Given the description of an element on the screen output the (x, y) to click on. 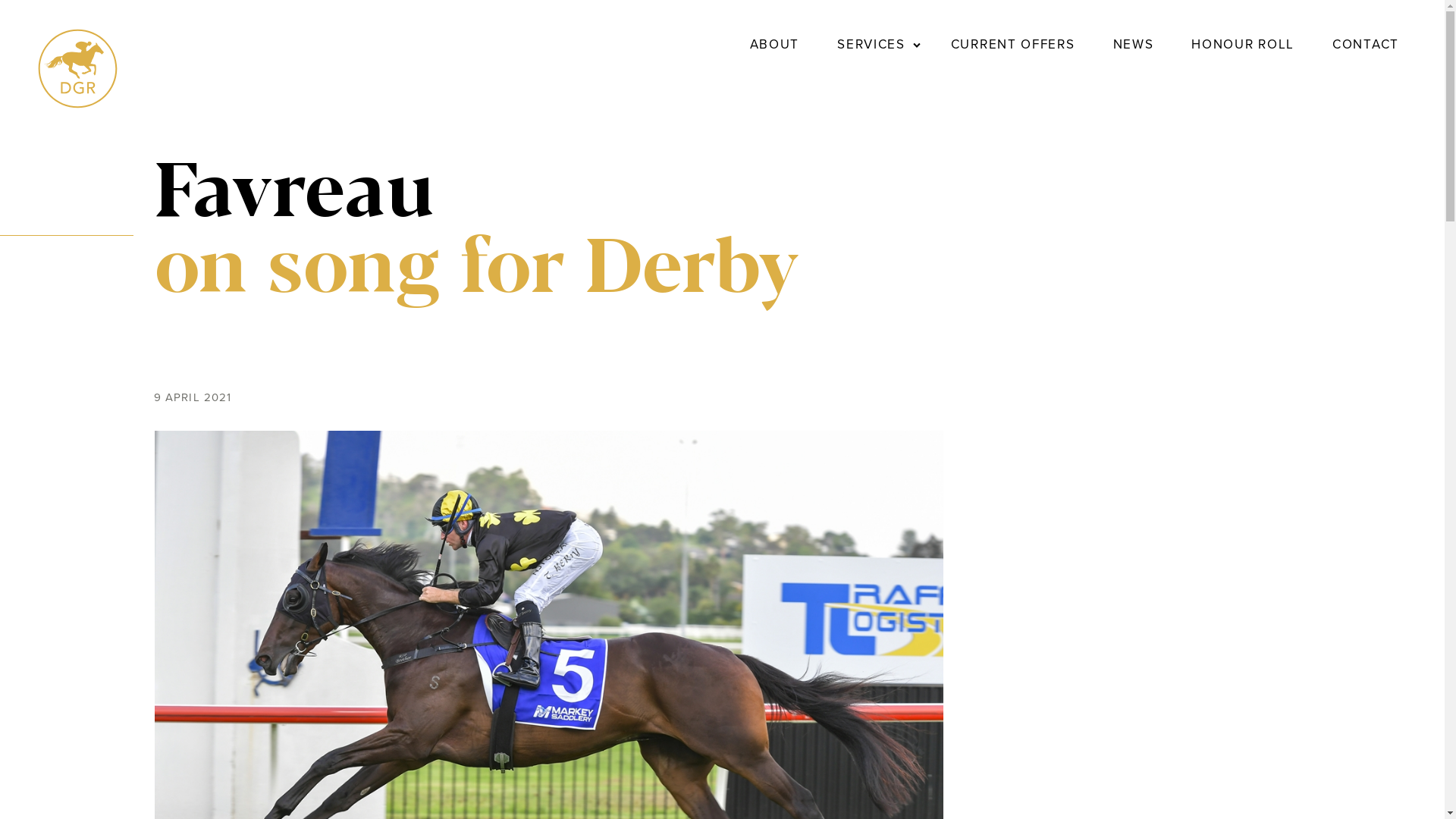
Expand child menu Element type: text (916, 44)
HONOUR ROLL Element type: text (1242, 44)
NEWS Element type: text (1133, 44)
CONTACT Element type: text (1365, 44)
ABOUT Element type: text (774, 44)
CURRENT OFFERS Element type: text (1012, 44)
DGR Thoroughbred Services Element type: text (77, 103)
SERVICES Element type: text (871, 44)
